Given the description of an element on the screen output the (x, y) to click on. 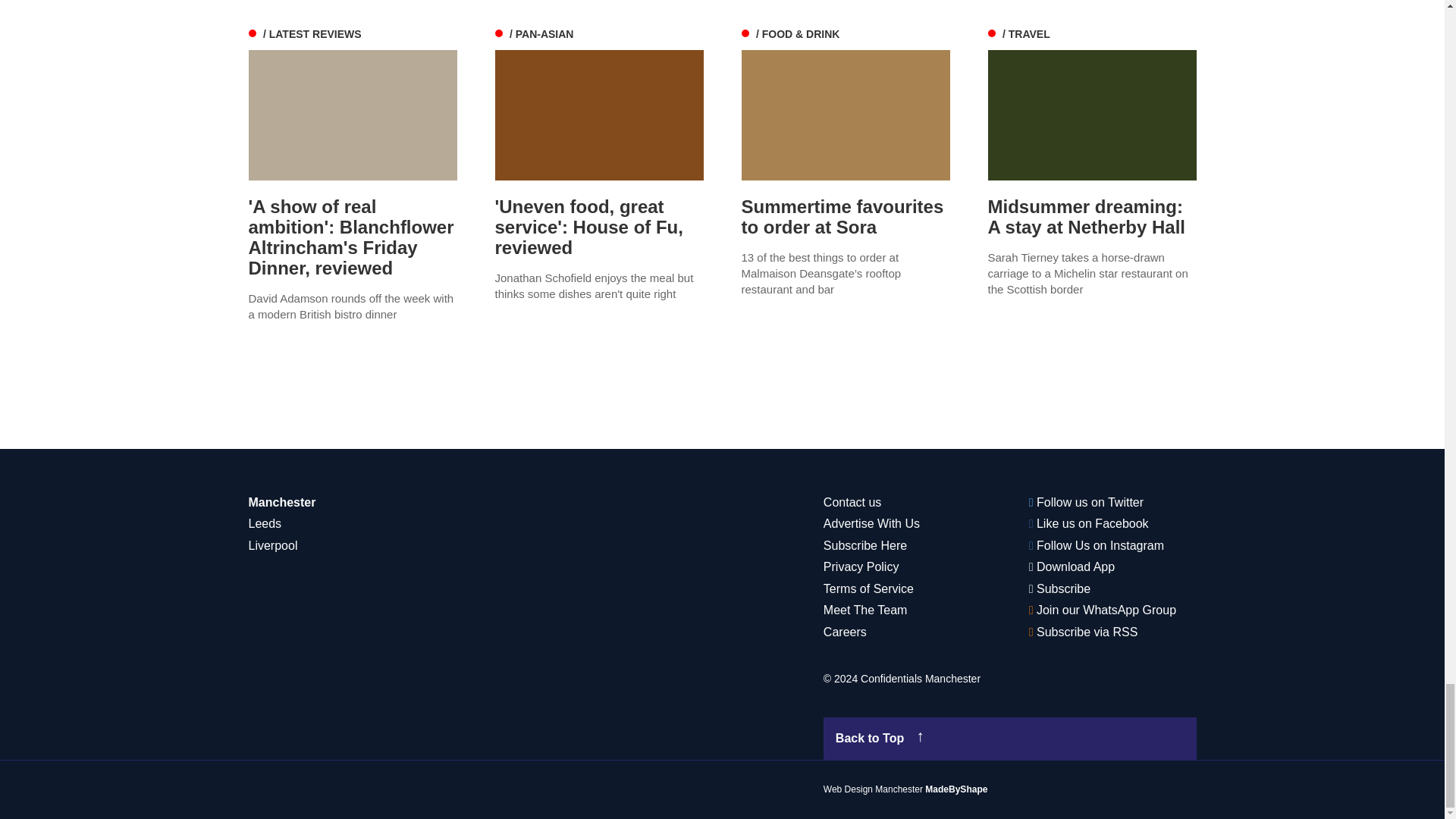
Back to Top (1010, 738)
